Given the description of an element on the screen output the (x, y) to click on. 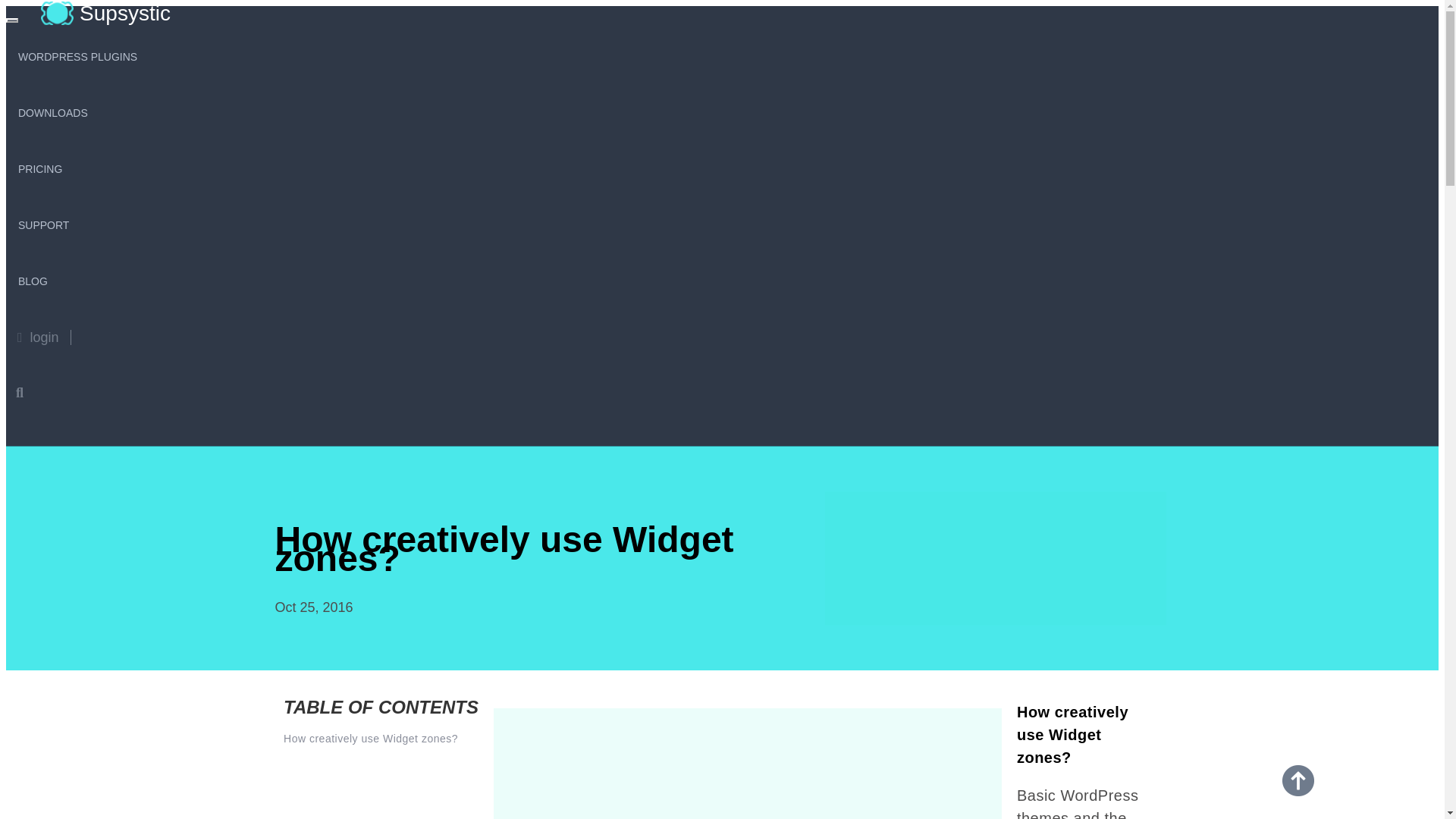
Supsystic (95, 13)
Supsystic plugins (754, 763)
BLOG (32, 279)
Pricing (39, 167)
Support (43, 223)
Toggle navigation (11, 20)
Download WordPress Plugins for Free (52, 111)
login (38, 337)
How creatively use Widget zones? (381, 738)
WORDPRESS PLUGINS (77, 55)
SUPPORT (43, 223)
DOWNLOADS (52, 111)
PRICING (39, 167)
WordPress Plugins by Supsystic (77, 55)
Back to top (1297, 780)
